Given the description of an element on the screen output the (x, y) to click on. 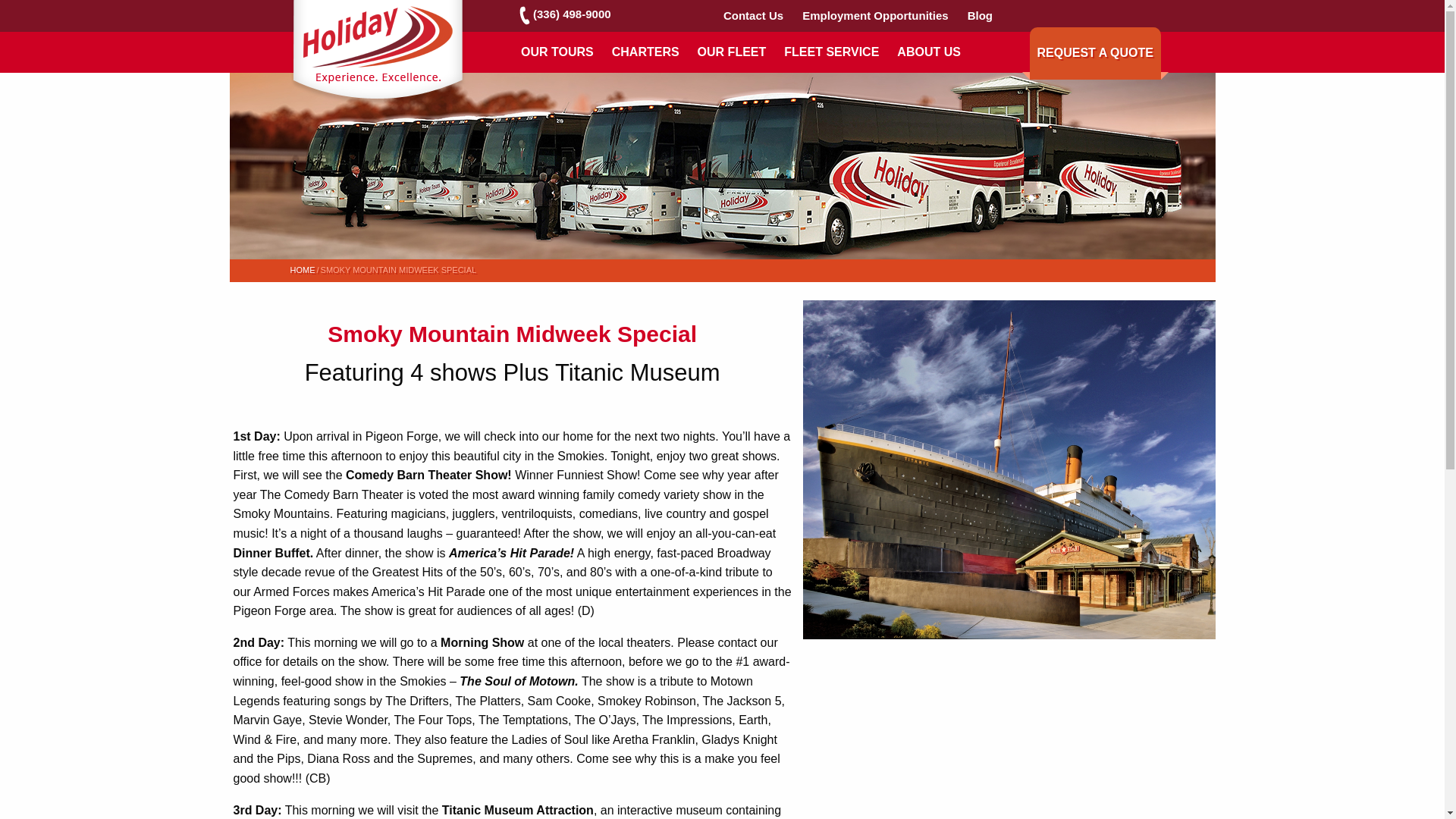
Contact Us (752, 15)
OUR TOURS (557, 51)
Blog (979, 15)
Employment Opportunities (875, 15)
REQUEST A QUOTE (1095, 53)
